Given the description of an element on the screen output the (x, y) to click on. 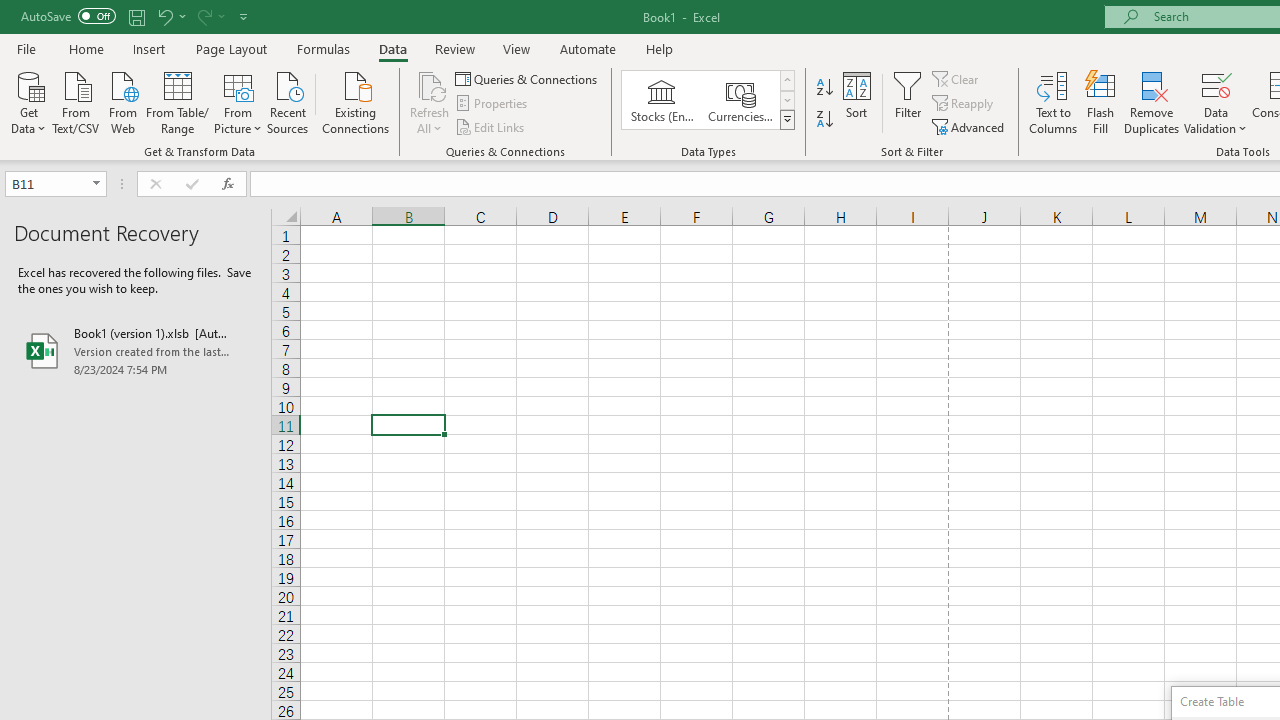
Row up (786, 79)
Clear (957, 78)
Data Types (786, 120)
From Table/Range (177, 101)
Remove Duplicates (1151, 102)
From Web (122, 101)
Stocks (English) (662, 100)
Text to Columns... (1053, 102)
Book1 (version 1).xlsb  [AutoRecovered] (136, 350)
Filter (908, 102)
